Given the description of an element on the screen output the (x, y) to click on. 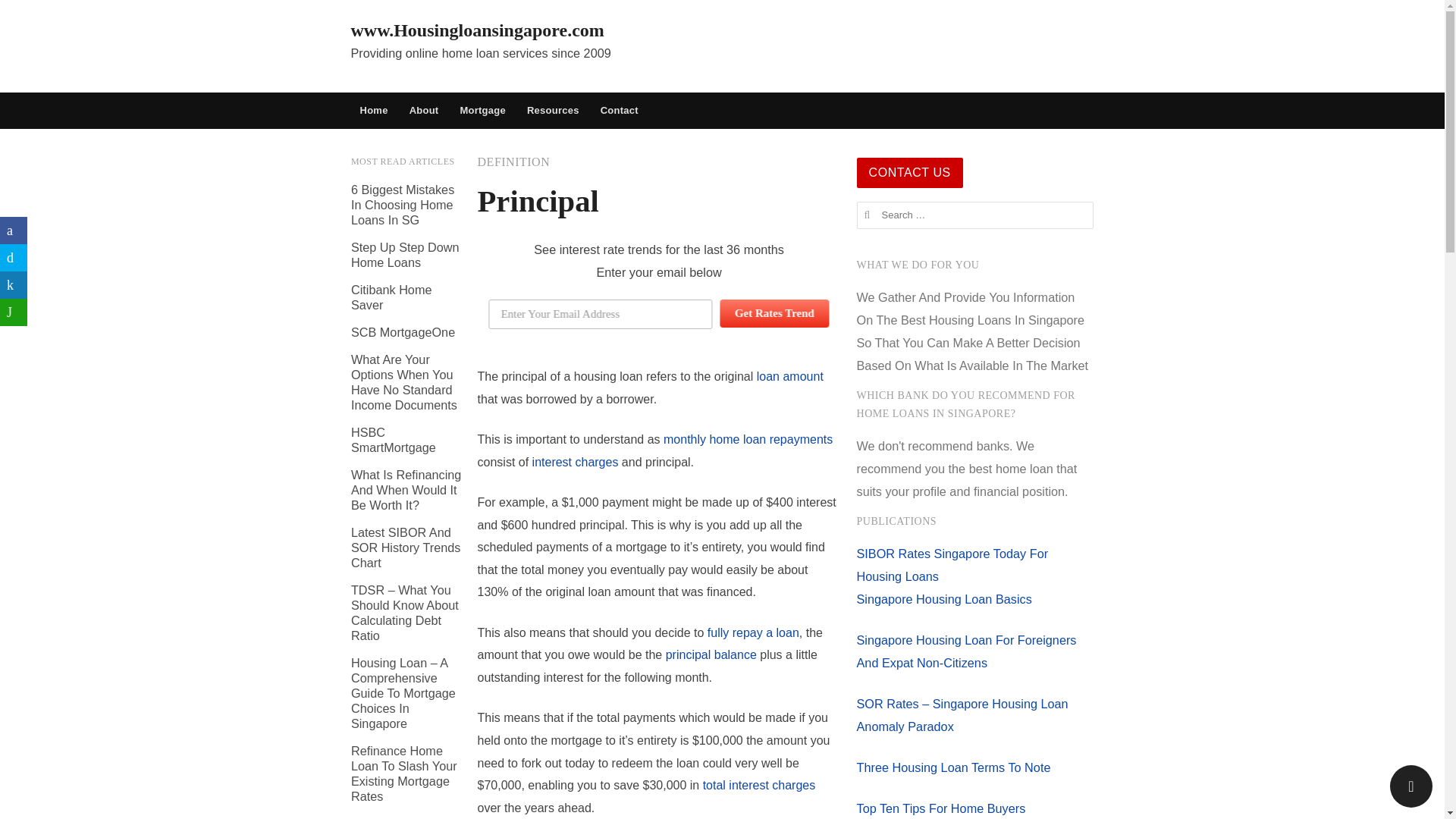
Step Up Step Down Home Loans (405, 254)
Latest SIBOR And SOR History Trends Chart (405, 547)
Latest SIBOR And SOR History Trends Chart (405, 547)
Step Up Step Down Home Loans (405, 254)
Contact (619, 110)
Shopping For A Housing Loan (392, 817)
What Is Refinancing And When Would It Be Worth It? (405, 489)
Refinance Home Loan To Slash Your Existing Mortgage Rates (403, 773)
Shopping For A Housing Loan (392, 817)
